Given the description of an element on the screen output the (x, y) to click on. 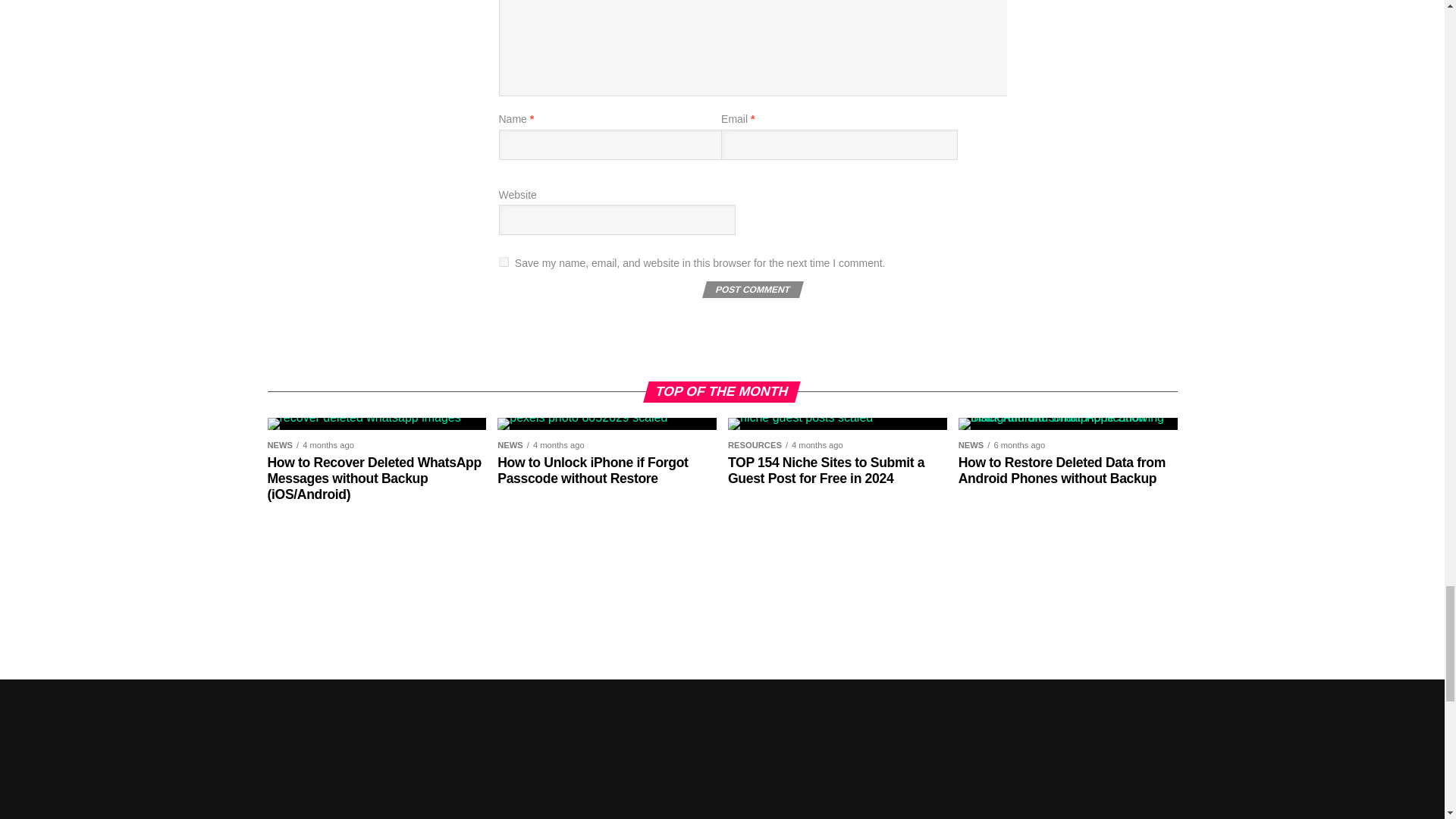
Post Comment (750, 289)
yes (503, 261)
